Given the description of an element on the screen output the (x, y) to click on. 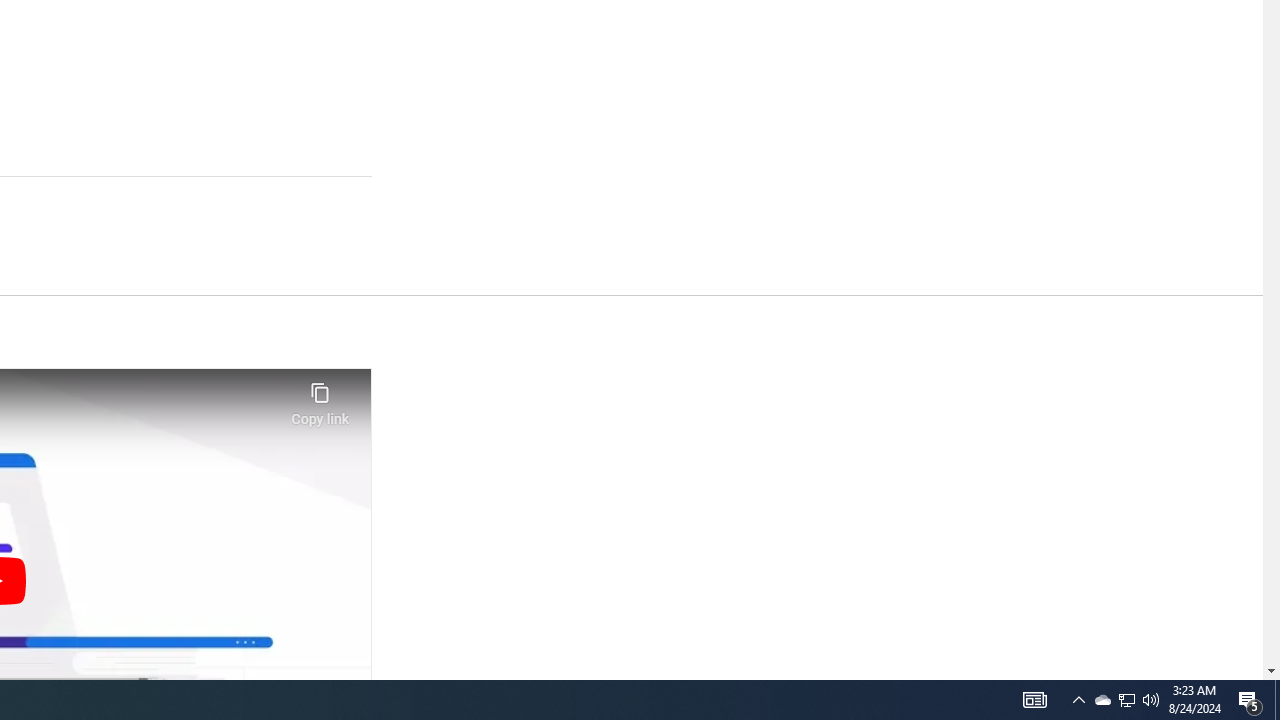
Copy link (319, 398)
